Given the description of an element on the screen output the (x, y) to click on. 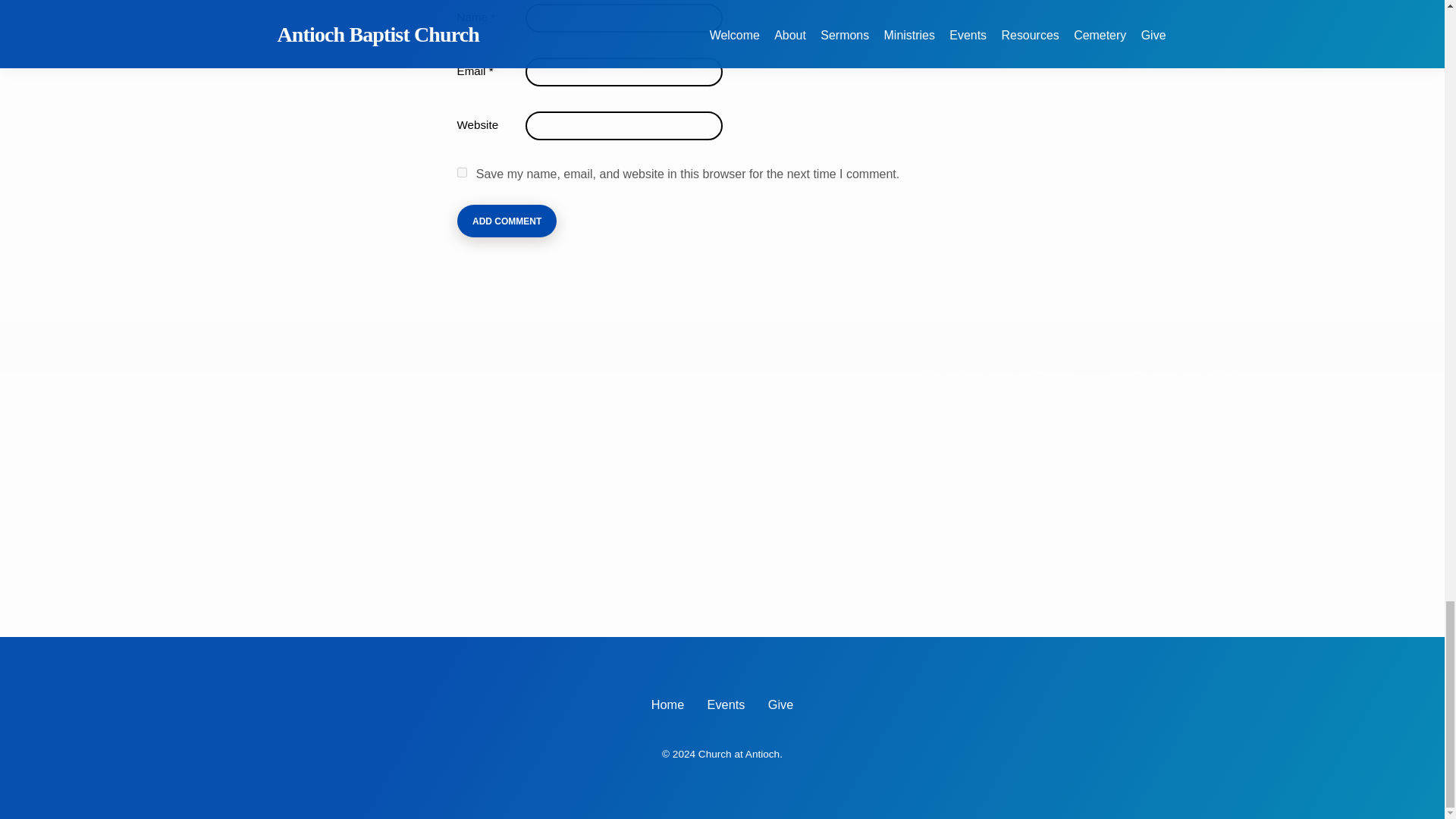
yes (461, 172)
Home (667, 704)
Add Comment (506, 220)
Give (780, 704)
Add Comment (506, 220)
Events (726, 704)
